Given the description of an element on the screen output the (x, y) to click on. 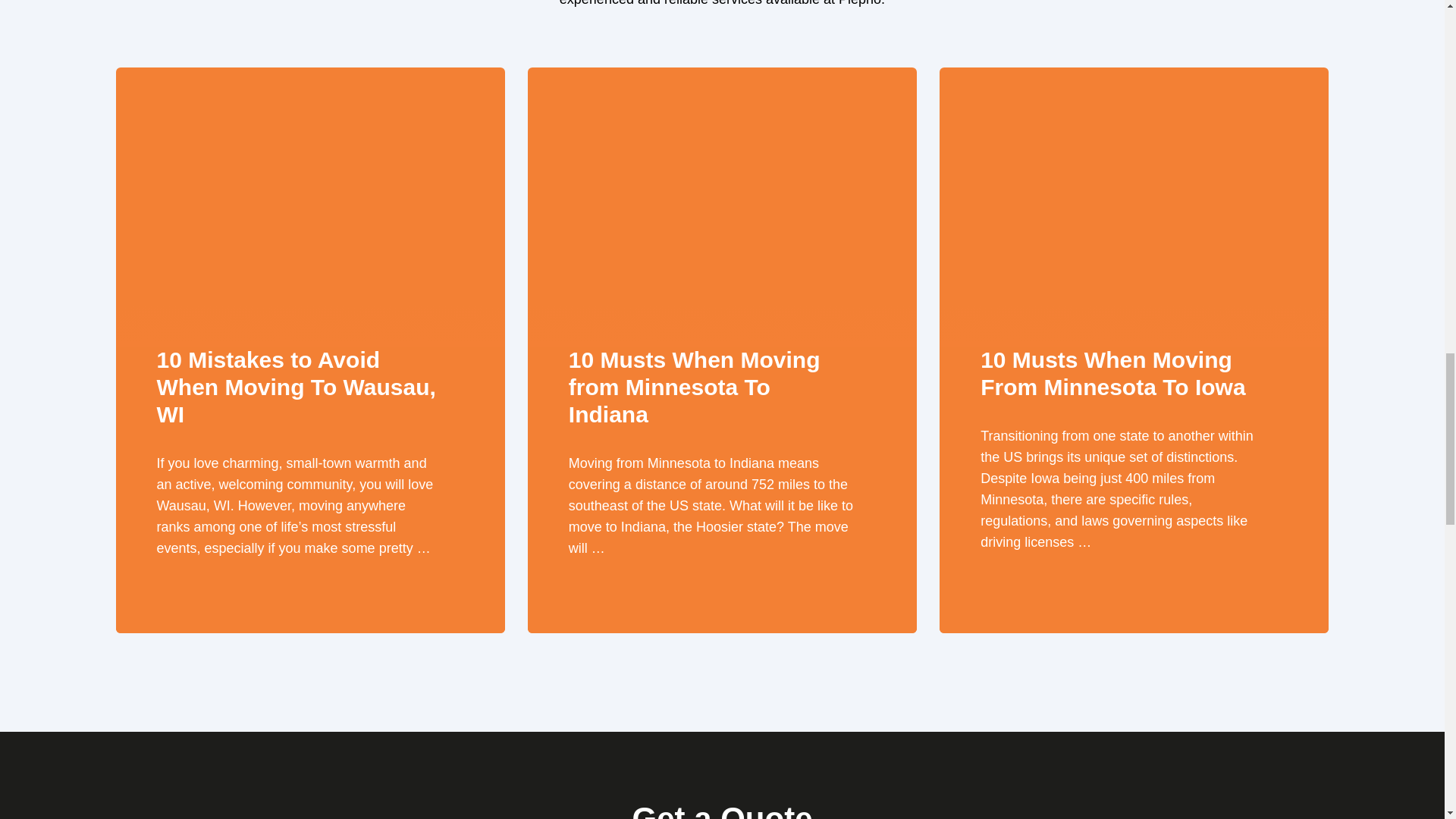
10 Mistakes to Avoid When Moving To Wausau, WI (309, 218)
10 Musts When Moving from Minnesota To Indiana (722, 218)
10 Musts When Moving From Minnesota To Iowa (1133, 218)
